Given the description of an element on the screen output the (x, y) to click on. 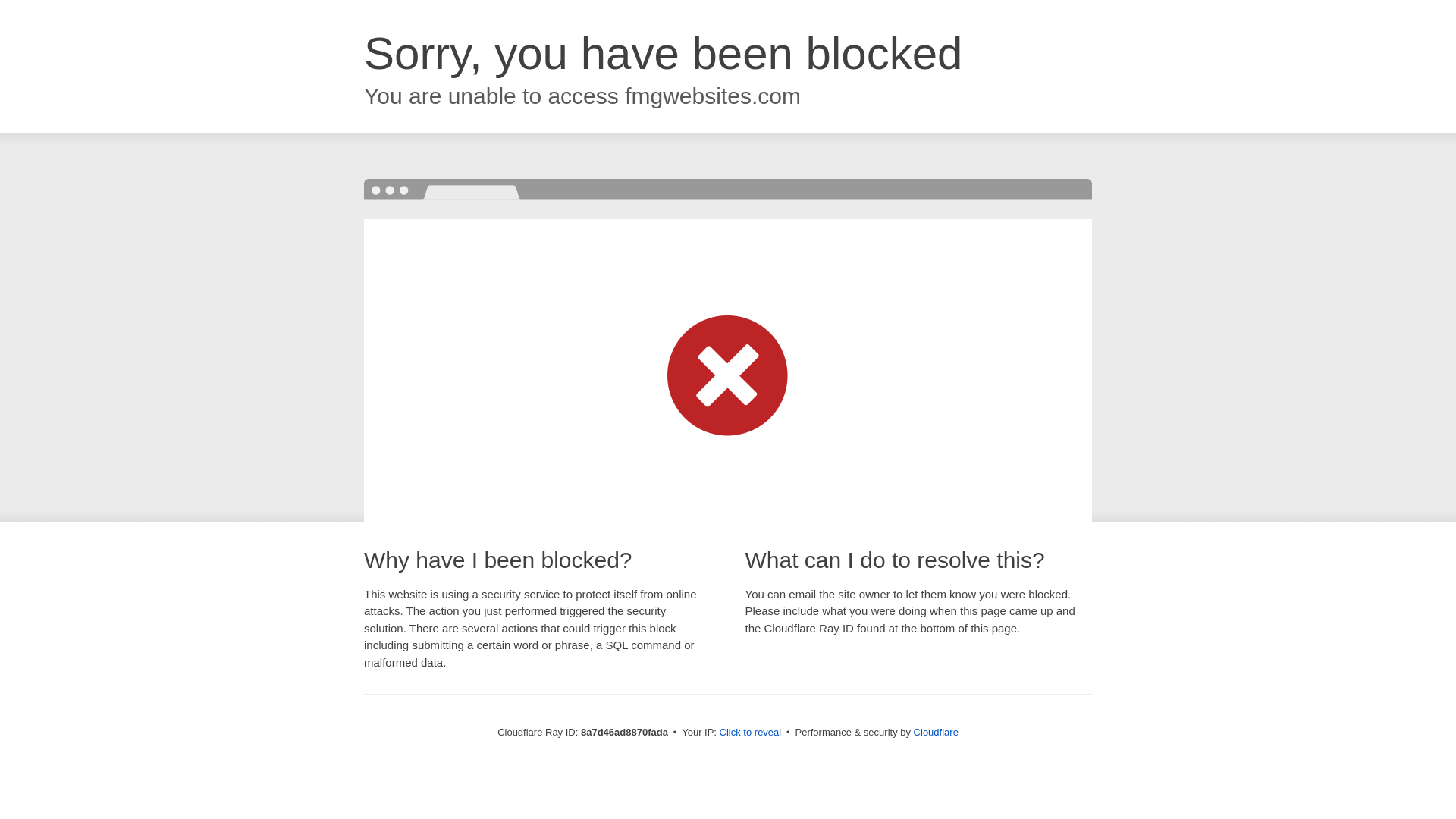
Click to reveal (750, 732)
Cloudflare (936, 731)
